Given the description of an element on the screen output the (x, y) to click on. 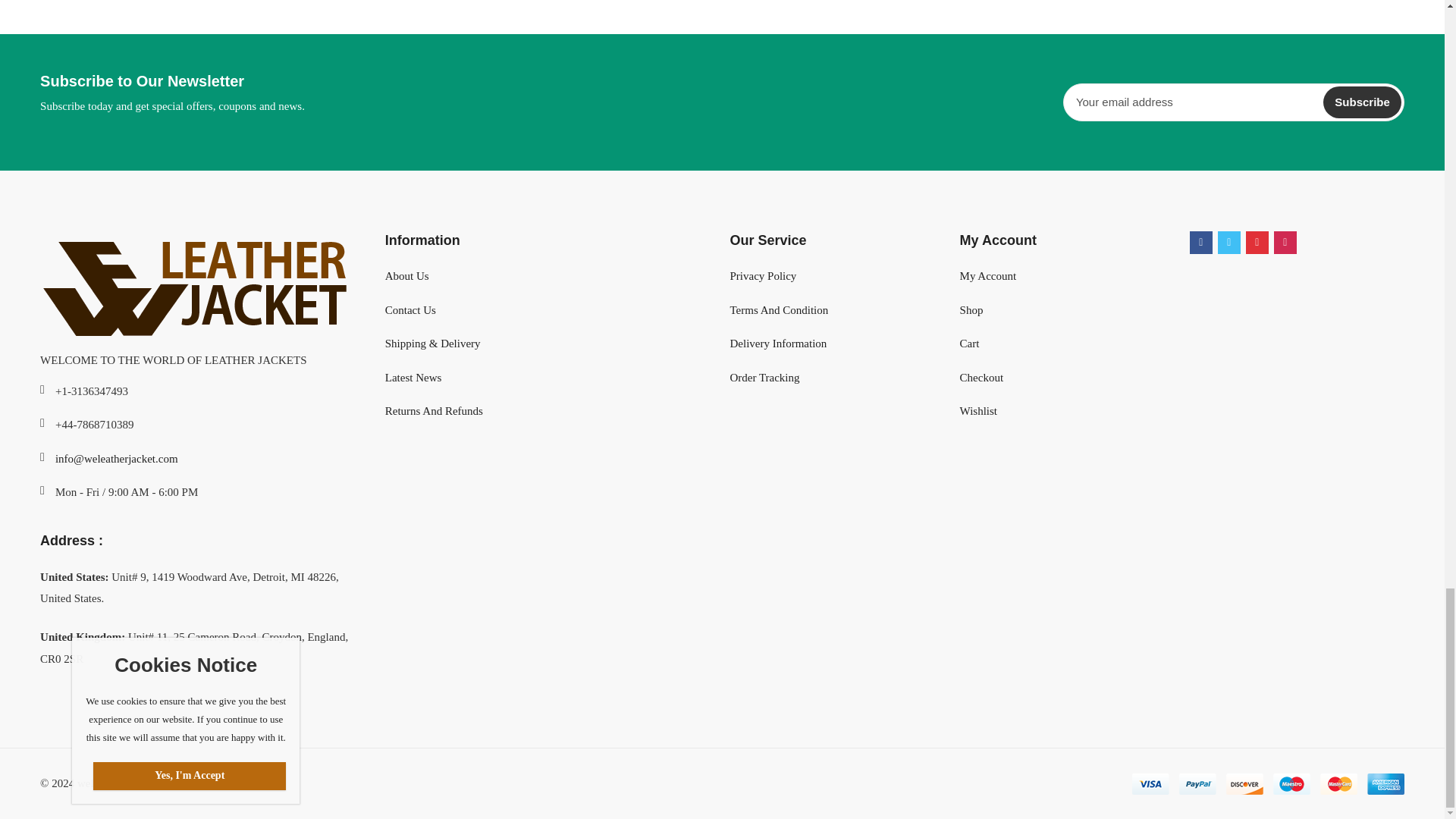
Subscribe (1361, 101)
